Given the description of an element on the screen output the (x, y) to click on. 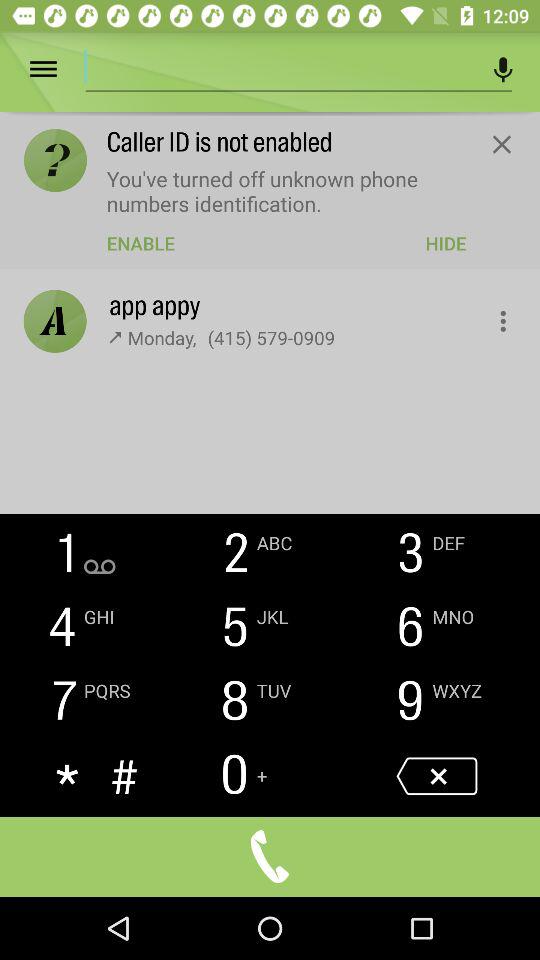
press to voice search (503, 69)
